Given the description of an element on the screen output the (x, y) to click on. 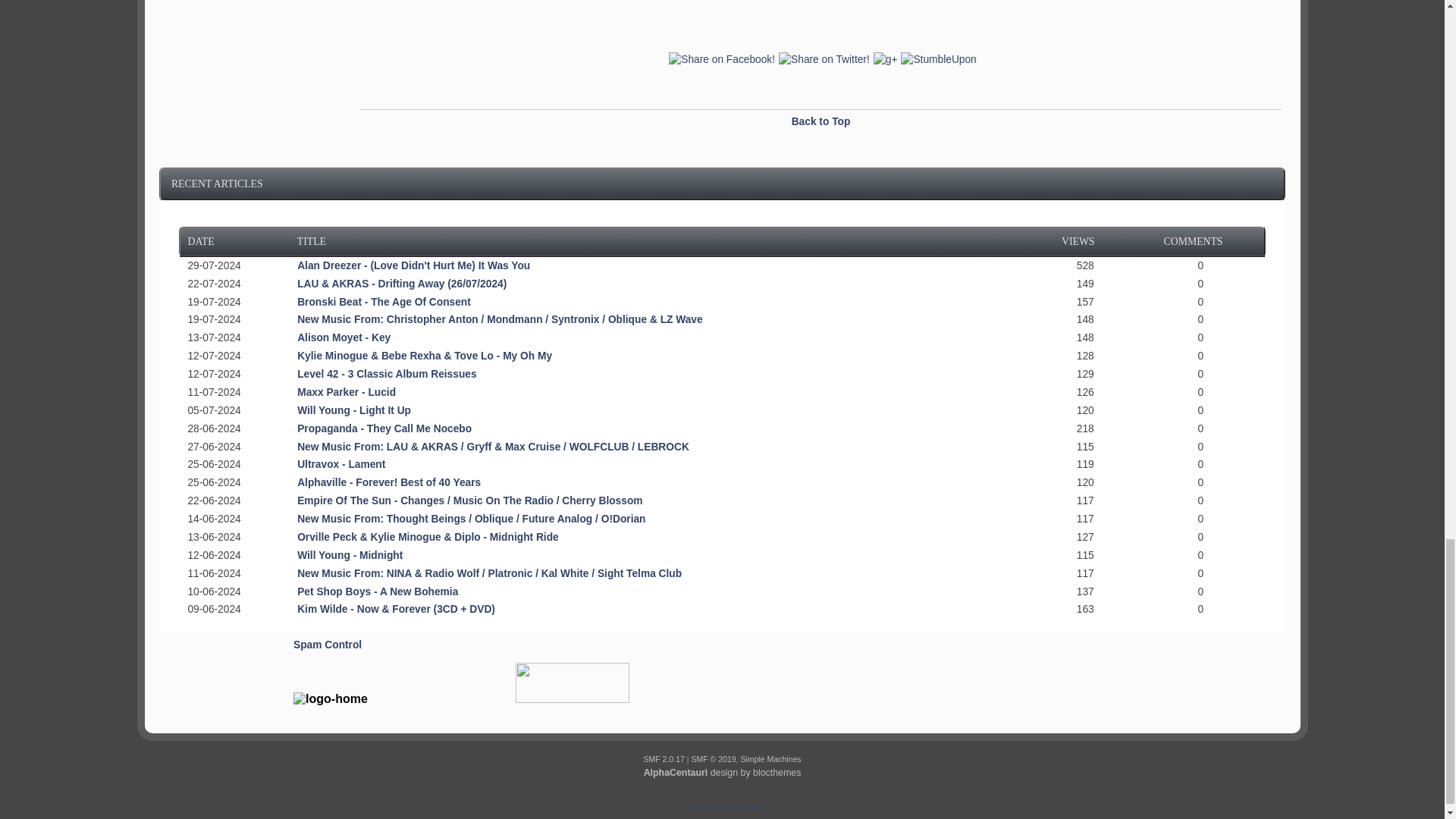
Maxx Parker - Lucid (346, 392)
Share on Facebook! (719, 59)
Simple Machines Forum (663, 758)
Simple Machines (769, 758)
License (712, 758)
Alison Moyet - Key (343, 337)
TinyPortal (699, 806)
Bronski Beat - The Age Of Consent (383, 301)
Back to Top (821, 121)
Stumbleupon (935, 59)
